Given the description of an element on the screen output the (x, y) to click on. 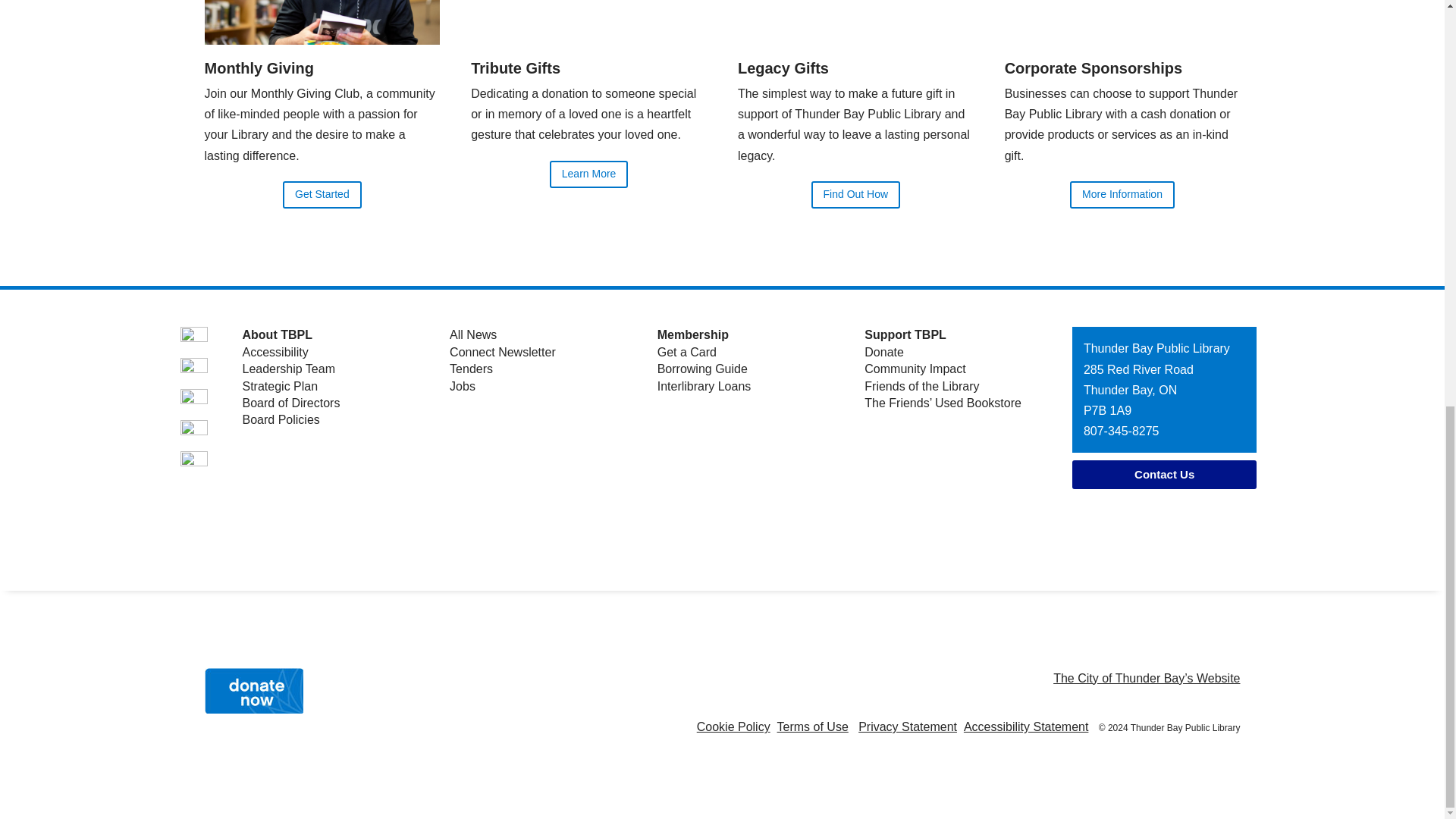
YT-icon (194, 402)
tribute-cardimg (588, 22)
Cookie Policy (733, 726)
Friends of the Library (921, 386)
monthly-giving-card (323, 22)
LI-icon (194, 433)
Find Out How (855, 194)
FB-icon (194, 339)
Tribute Gifts (515, 67)
Corporate Sponsorships (1093, 67)
